Given the description of an element on the screen output the (x, y) to click on. 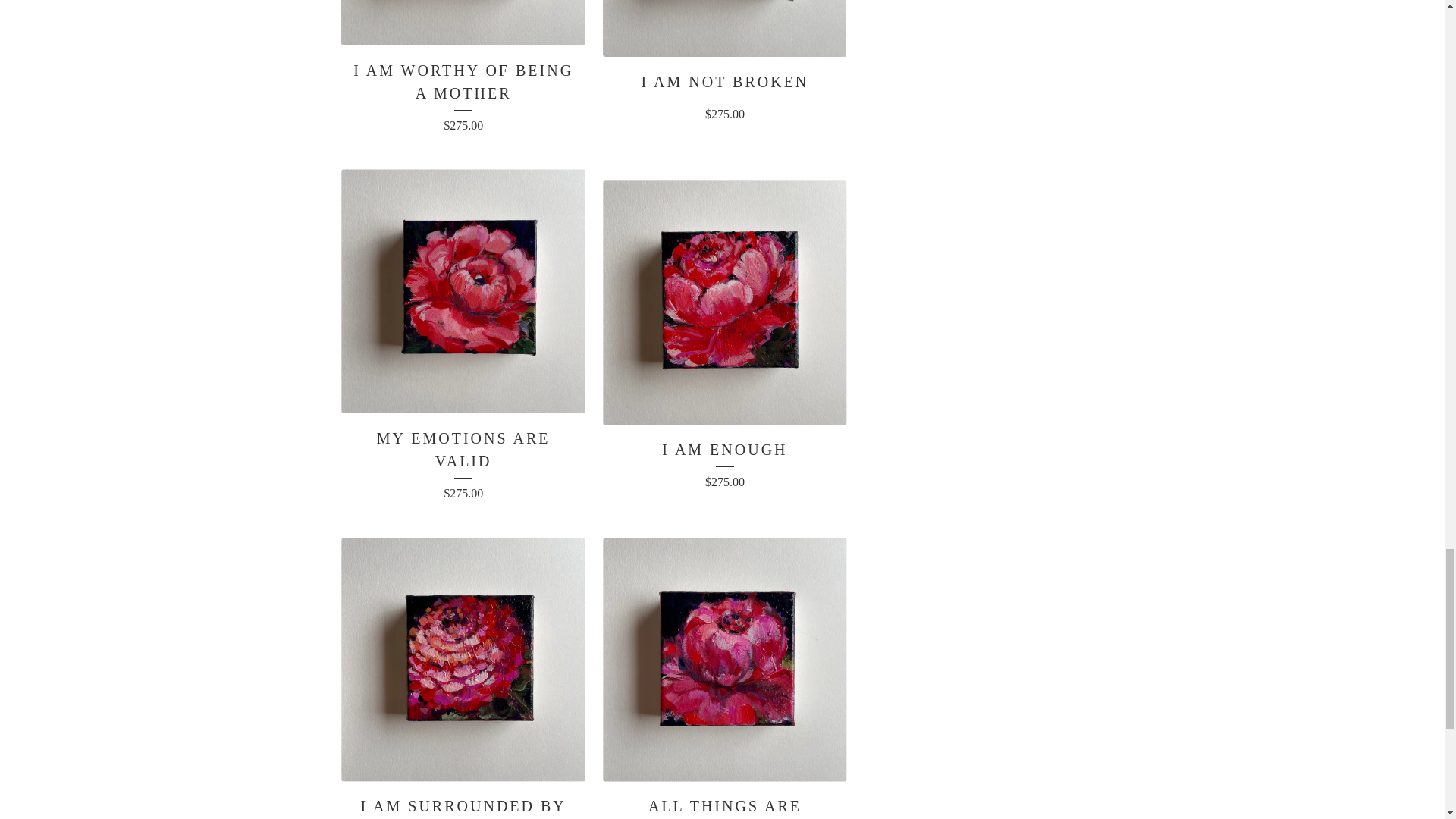
View I AM NOT BROKEN (724, 74)
View I AM WORTHY OF BEING A MOTHER (462, 80)
View ALL THINGS ARE TEMPORARY (724, 674)
